Given the description of an element on the screen output the (x, y) to click on. 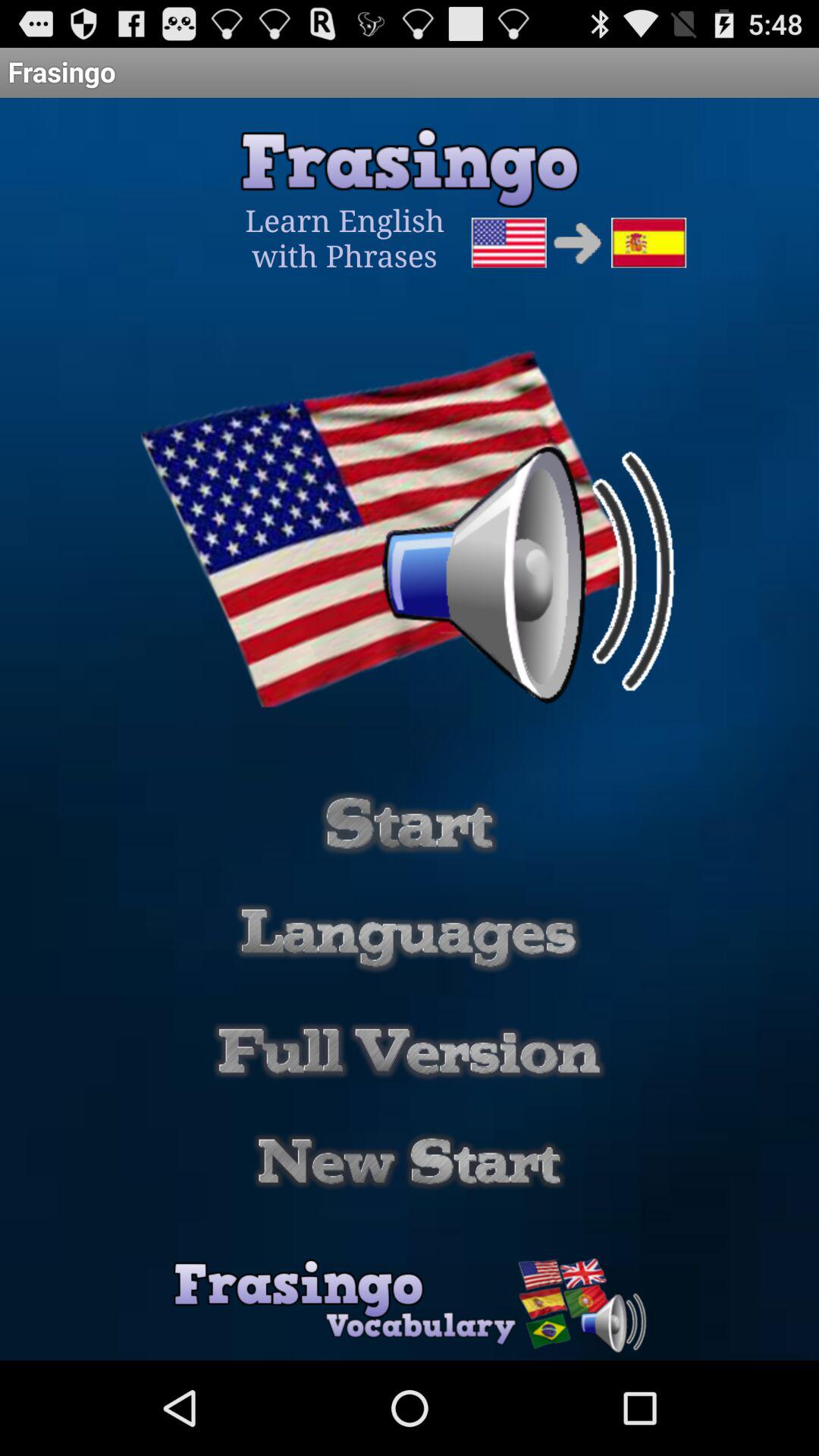
start option (409, 1161)
